Given the description of an element on the screen output the (x, y) to click on. 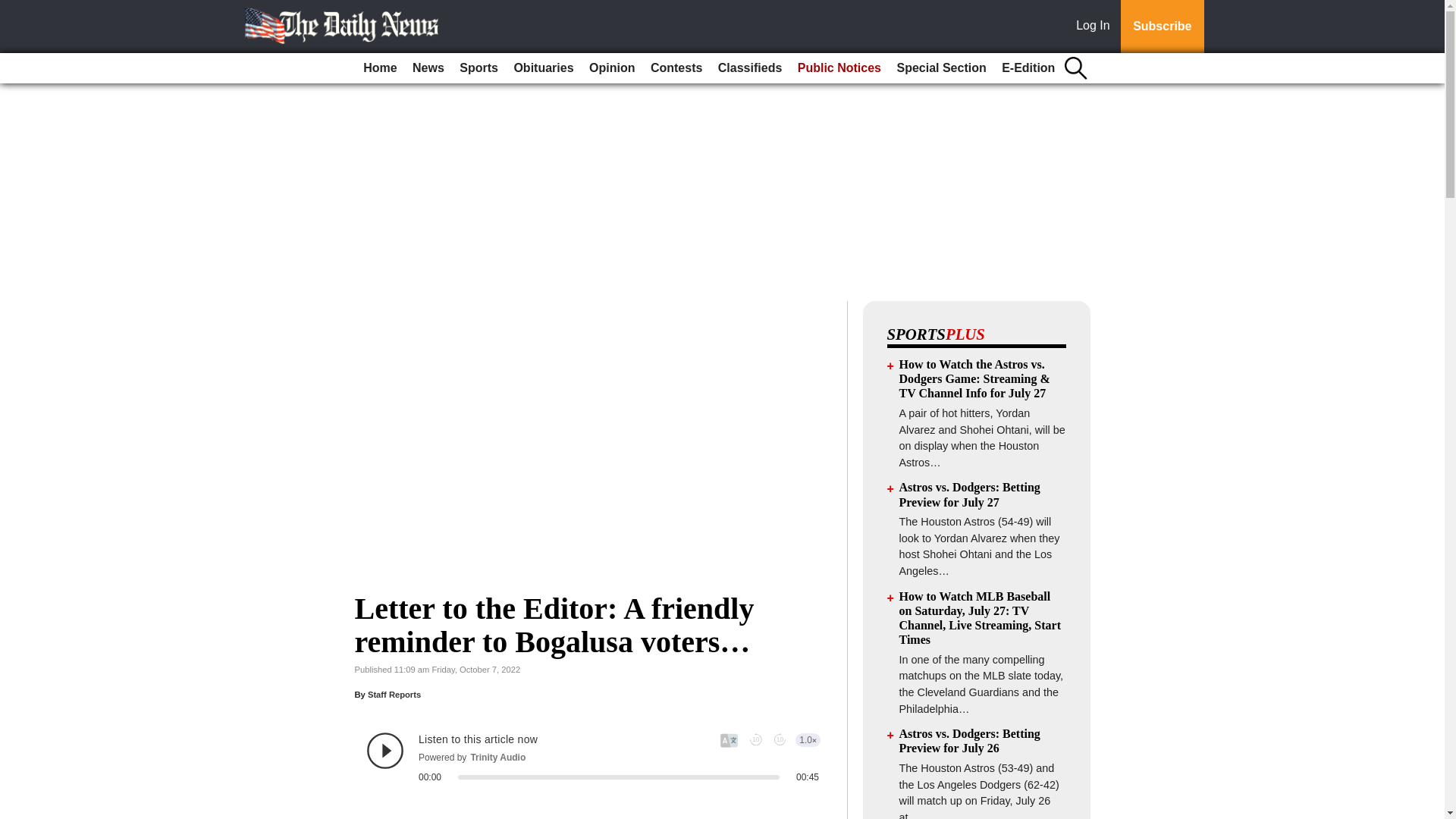
Contests (676, 68)
Trinity Audio Player (592, 757)
Sports (477, 68)
Astros vs. Dodgers: Betting Preview for July 26 (970, 740)
Go (13, 9)
E-Edition (1028, 68)
Special Section (940, 68)
Staff Reports (394, 694)
Astros vs. Dodgers: Betting Preview for July 27 (970, 493)
Subscribe (1162, 26)
Log In (1095, 26)
Public Notices (839, 68)
Home (379, 68)
Classifieds (749, 68)
